Given the description of an element on the screen output the (x, y) to click on. 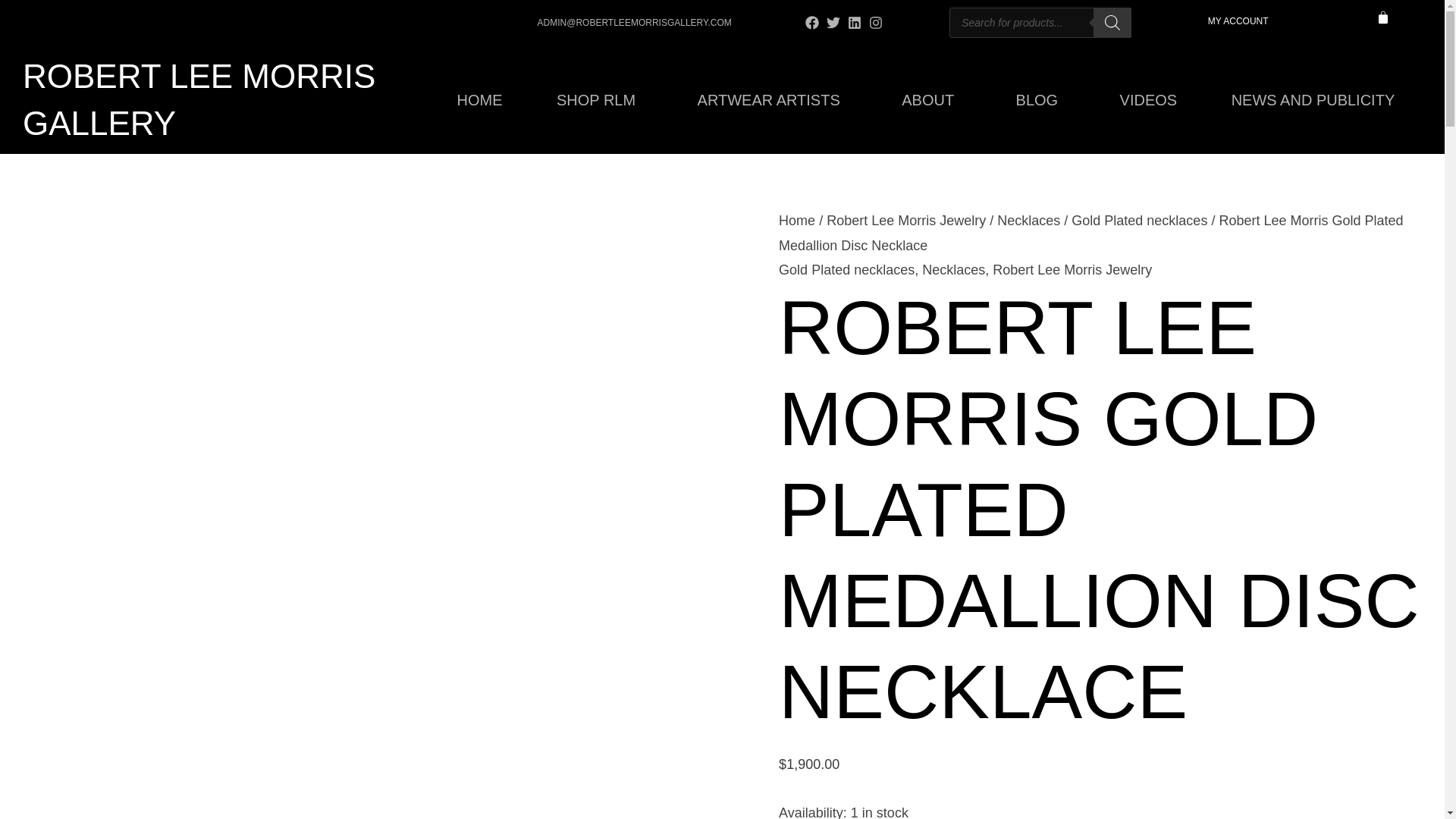
Twitter (833, 22)
HOME (479, 99)
SHOP RLM (599, 99)
Instagram (875, 22)
MY ACCOUNT (1238, 20)
Facebook (811, 22)
Linkedin (854, 22)
ROBERT LEE MORRIS GALLERY (199, 99)
